Given the description of an element on the screen output the (x, y) to click on. 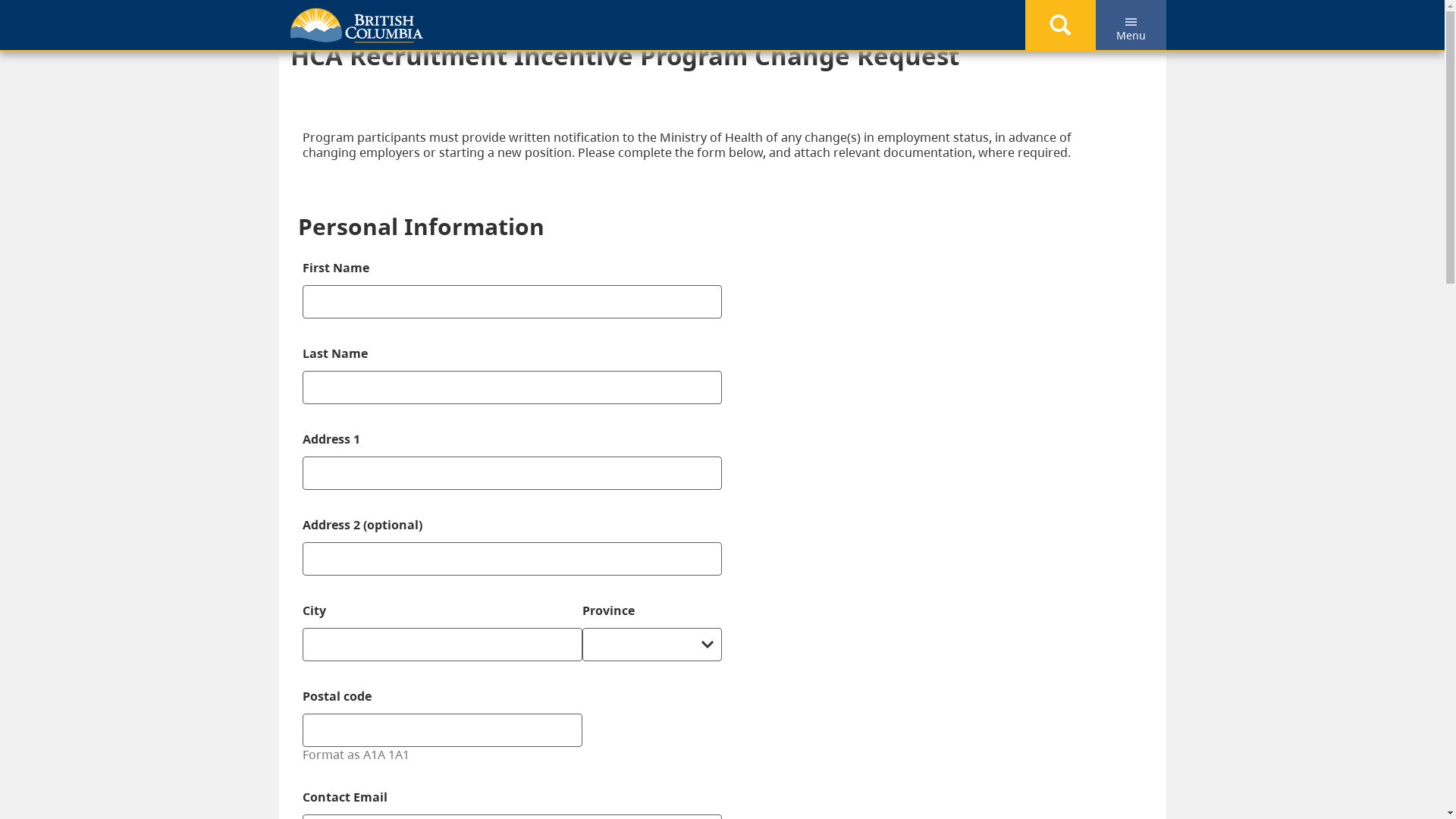
Home Element type: text (318, 20)
Government of B.C. Element type: hover (355, 25)
Menu Element type: text (1130, 25)
